Given the description of an element on the screen output the (x, y) to click on. 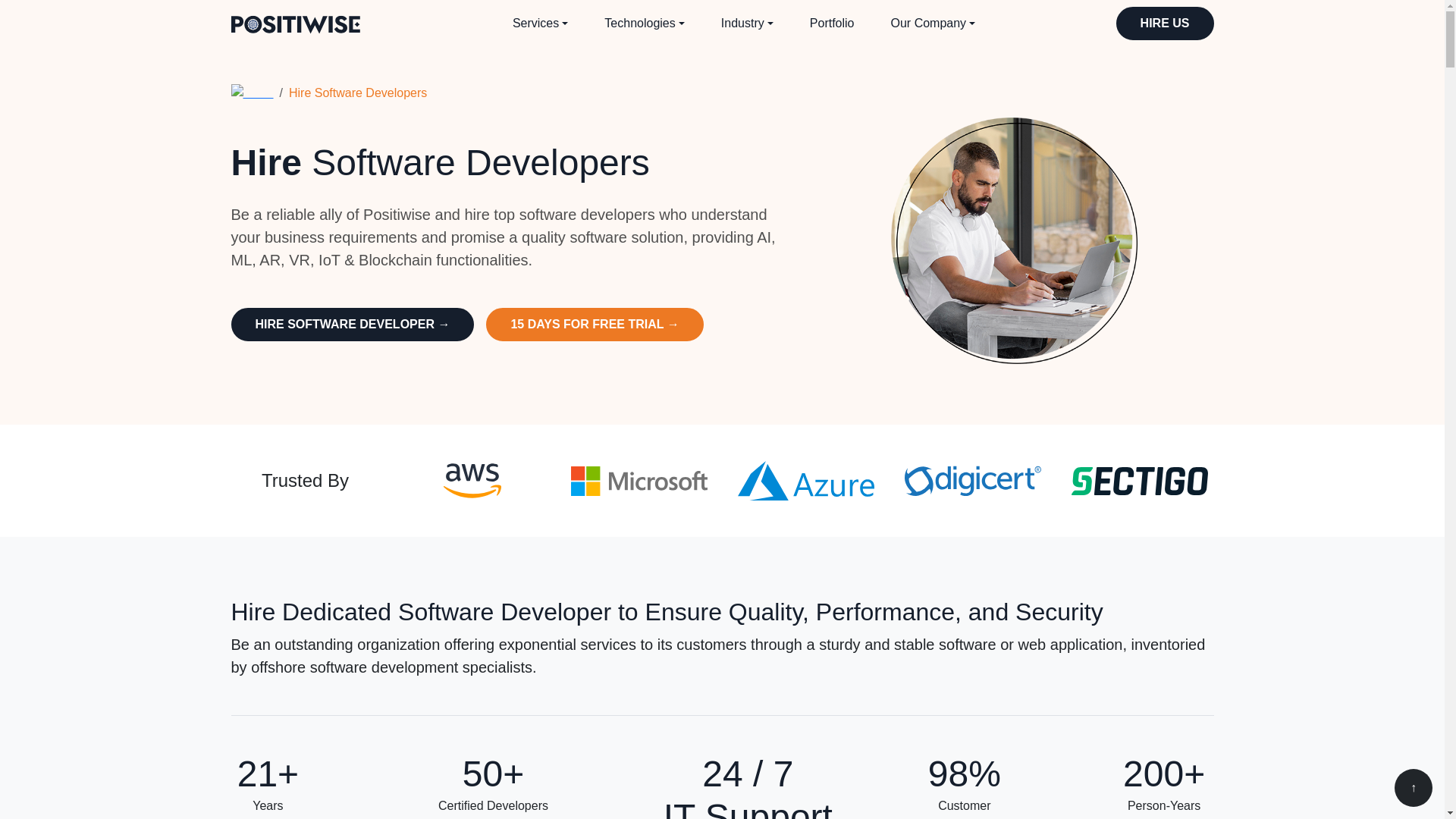
15 Days For Free Trial (594, 324)
Technologies (643, 23)
Hire Software Developer (352, 324)
Industry (747, 23)
Services (540, 23)
